Given the description of an element on the screen output the (x, y) to click on. 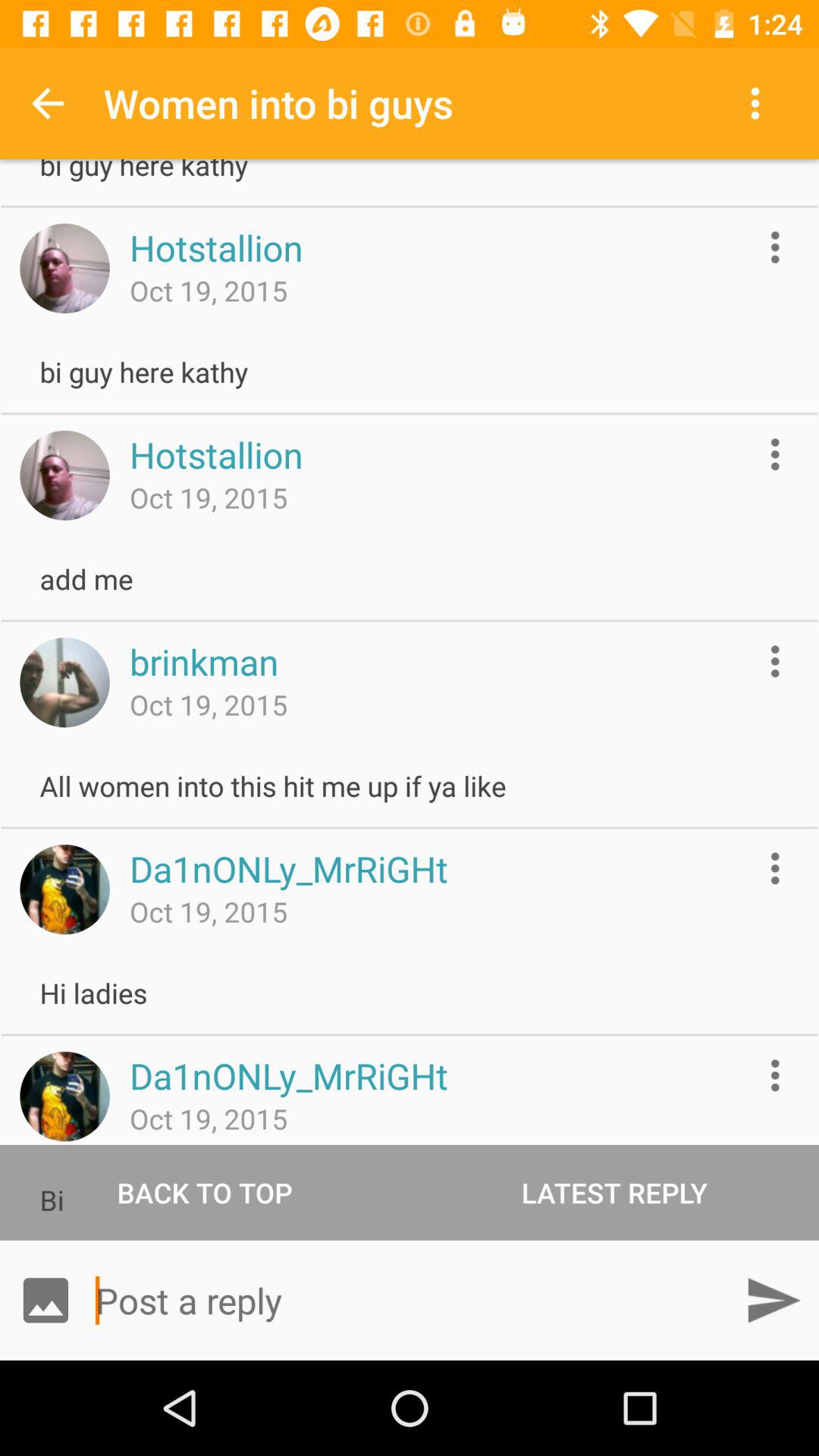
scroll until the latest reply item (614, 1192)
